Given the description of an element on the screen output the (x, y) to click on. 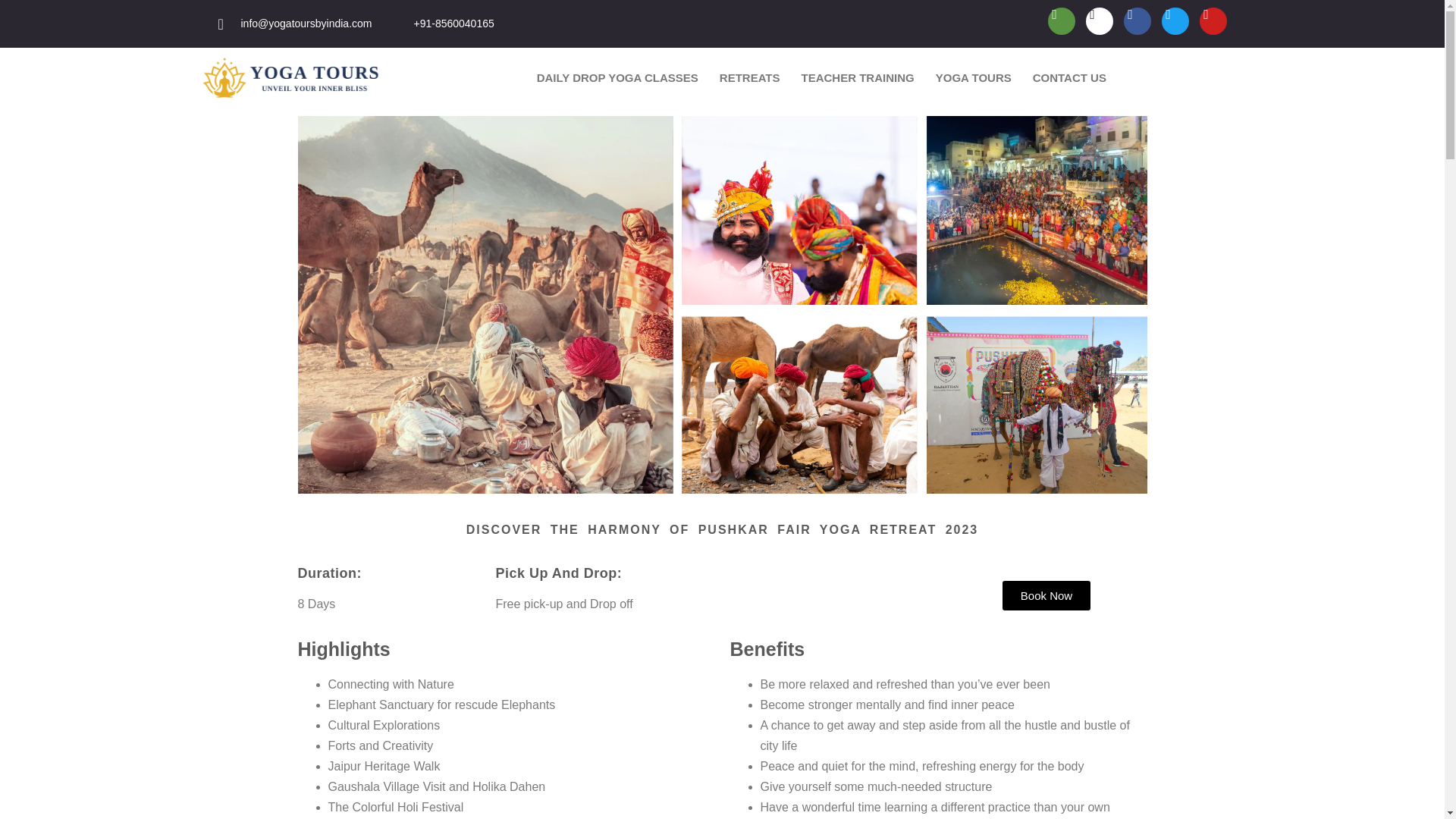
RETREATS (749, 77)
YOGA TOURS (973, 77)
DAILY DROP YOGA CLASSES (617, 77)
Book Now (1046, 595)
TEACHER TRAINING (857, 77)
CONTACT US (1069, 77)
